Given the description of an element on the screen output the (x, y) to click on. 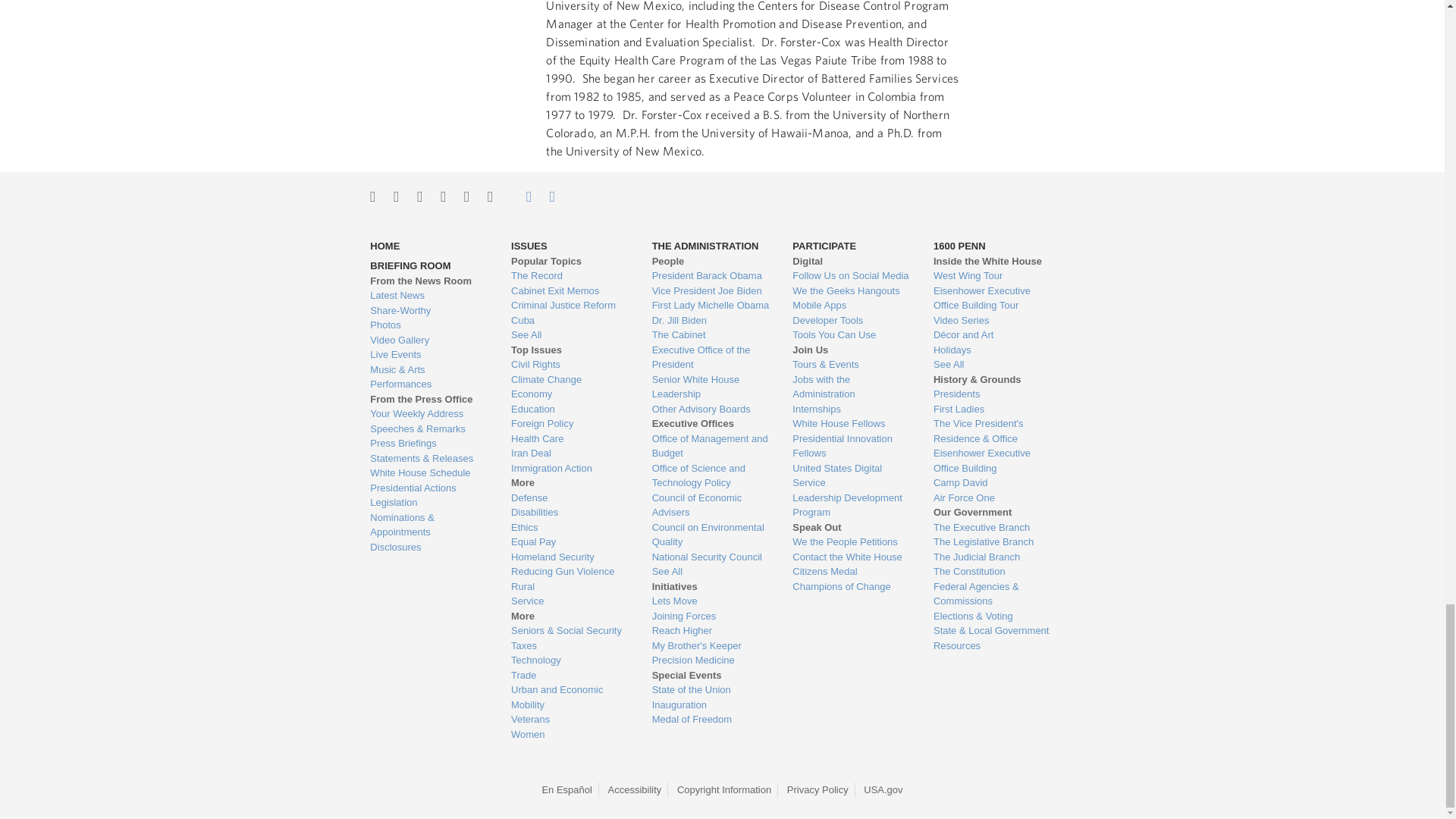
Contact the Whitehouse. (521, 196)
Read the latest blog posts from 1600 Pennsylvania Ave (428, 295)
